Given the description of an element on the screen output the (x, y) to click on. 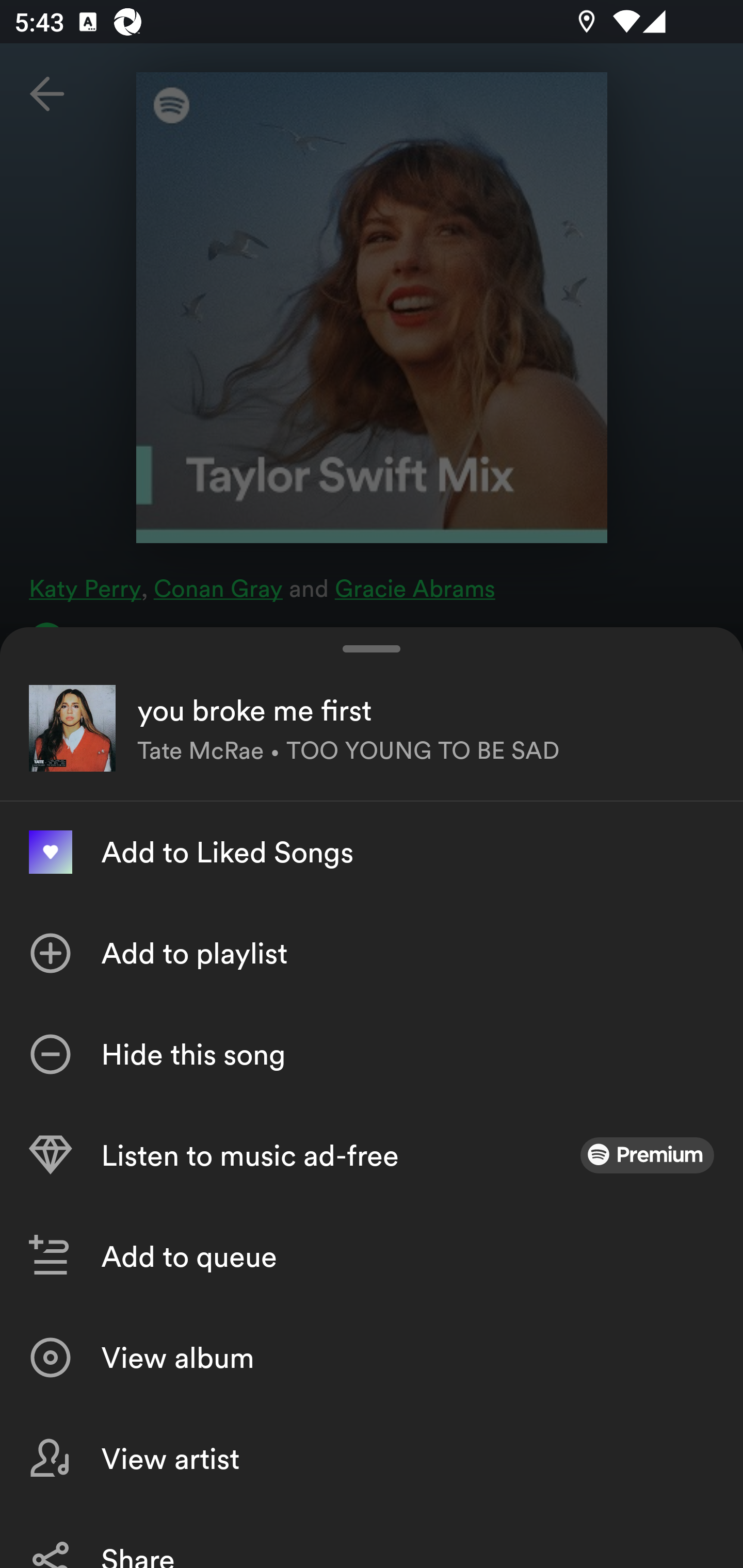
Add to Liked Songs (371, 852)
Add to playlist (371, 953)
Hide this song (371, 1054)
Listen to music ad-free (371, 1155)
Add to queue (371, 1256)
View album (371, 1357)
View artist (371, 1458)
Share (371, 1538)
